Given the description of an element on the screen output the (x, y) to click on. 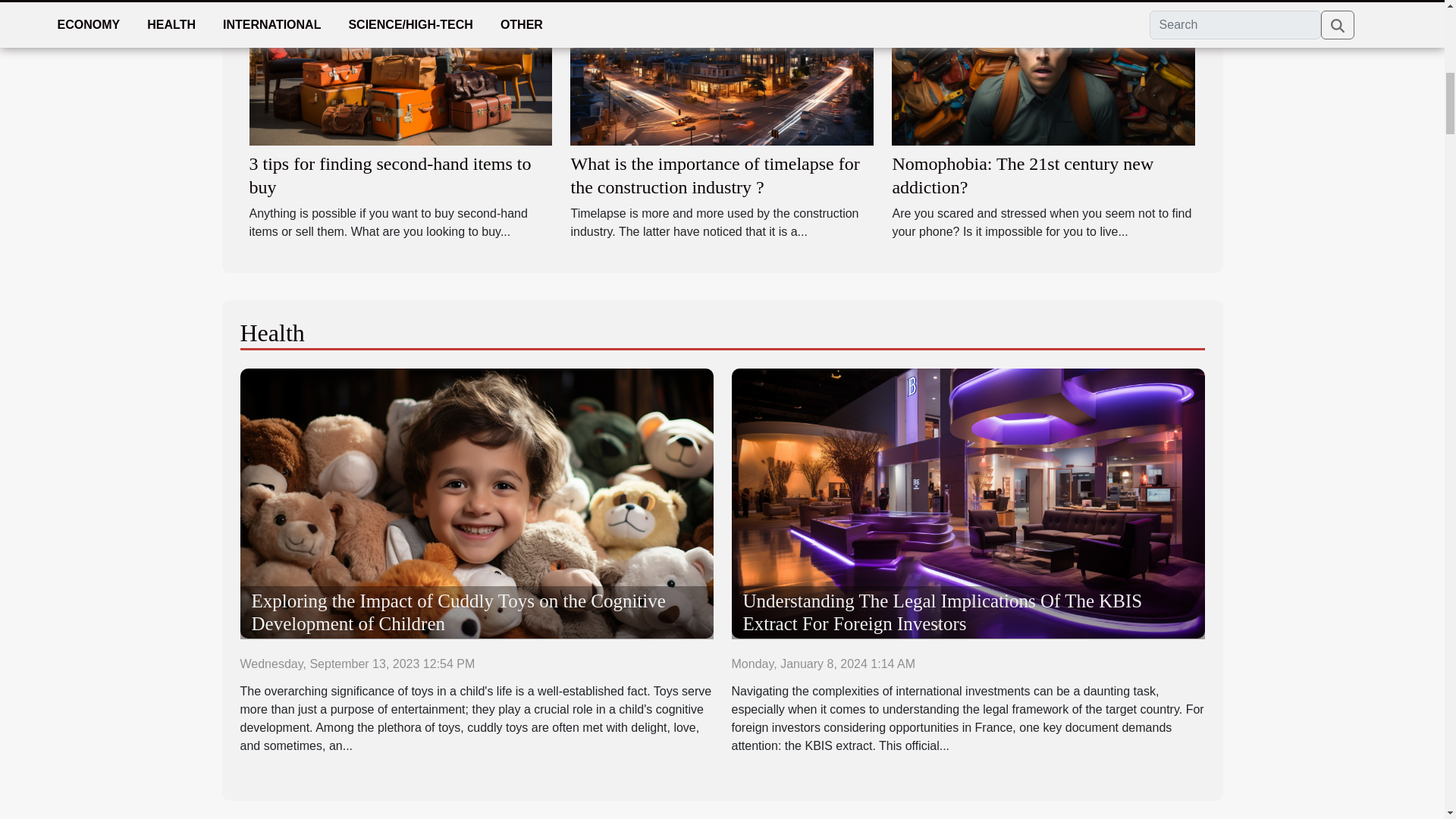
Nomophobia: The 21st century new addiction? (1043, 57)
3 tips for finding second-hand items to buy (389, 174)
Nomophobia: The 21st century new addiction? (1022, 174)
3 tips for finding second-hand items to buy (399, 57)
3 tips for finding second-hand items to buy (389, 174)
Nomophobia: The 21st century new addiction? (1022, 174)
